Given the description of an element on the screen output the (x, y) to click on. 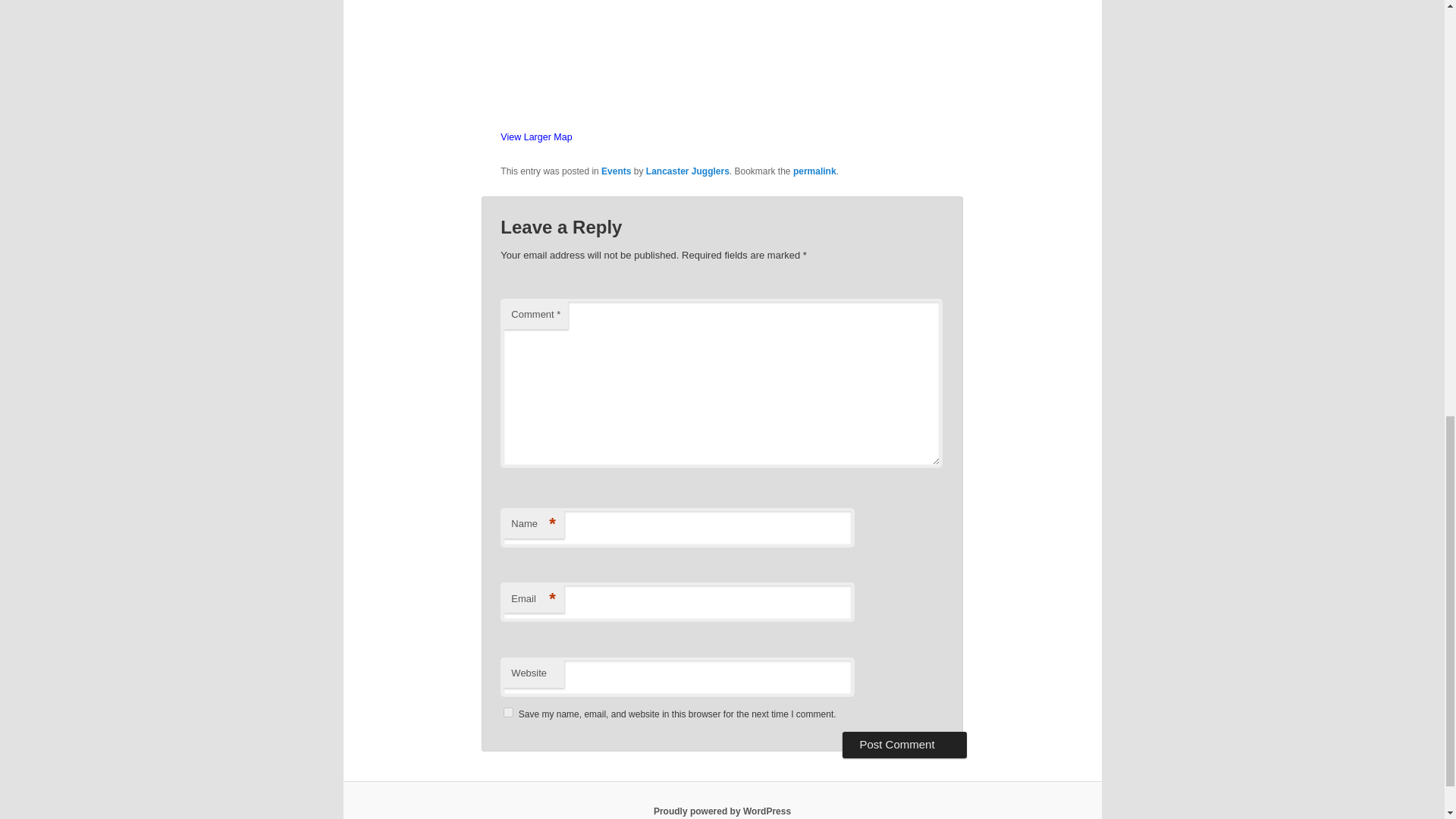
yes (508, 712)
Lancaster Jugglers (687, 171)
Permalink to World Juggling Day in Lancaster, PA (814, 171)
Proudly powered by WordPress (721, 810)
permalink (814, 171)
Post Comment (904, 744)
Post Comment (904, 744)
View Larger Map (536, 136)
Events (615, 171)
Semantic Personal Publishing Platform (721, 810)
